Given the description of an element on the screen output the (x, y) to click on. 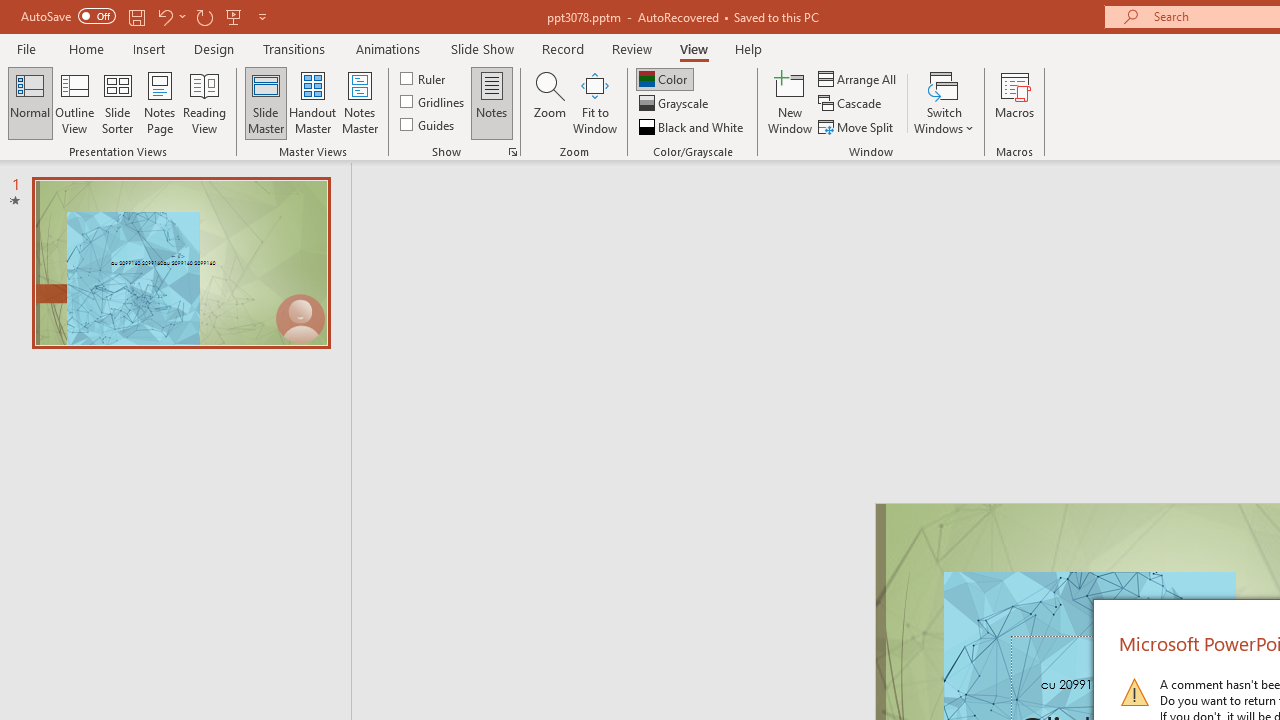
From Beginning (234, 15)
Guides (428, 124)
Slide (180, 262)
Gridlines (433, 101)
AutoSave (68, 16)
Grayscale (675, 103)
Outline View (74, 102)
Grid Settings... (512, 151)
Warning Icon (1134, 691)
Home (86, 48)
Design (214, 48)
Transitions (294, 48)
Switch Windows (943, 102)
Save (136, 15)
